Given the description of an element on the screen output the (x, y) to click on. 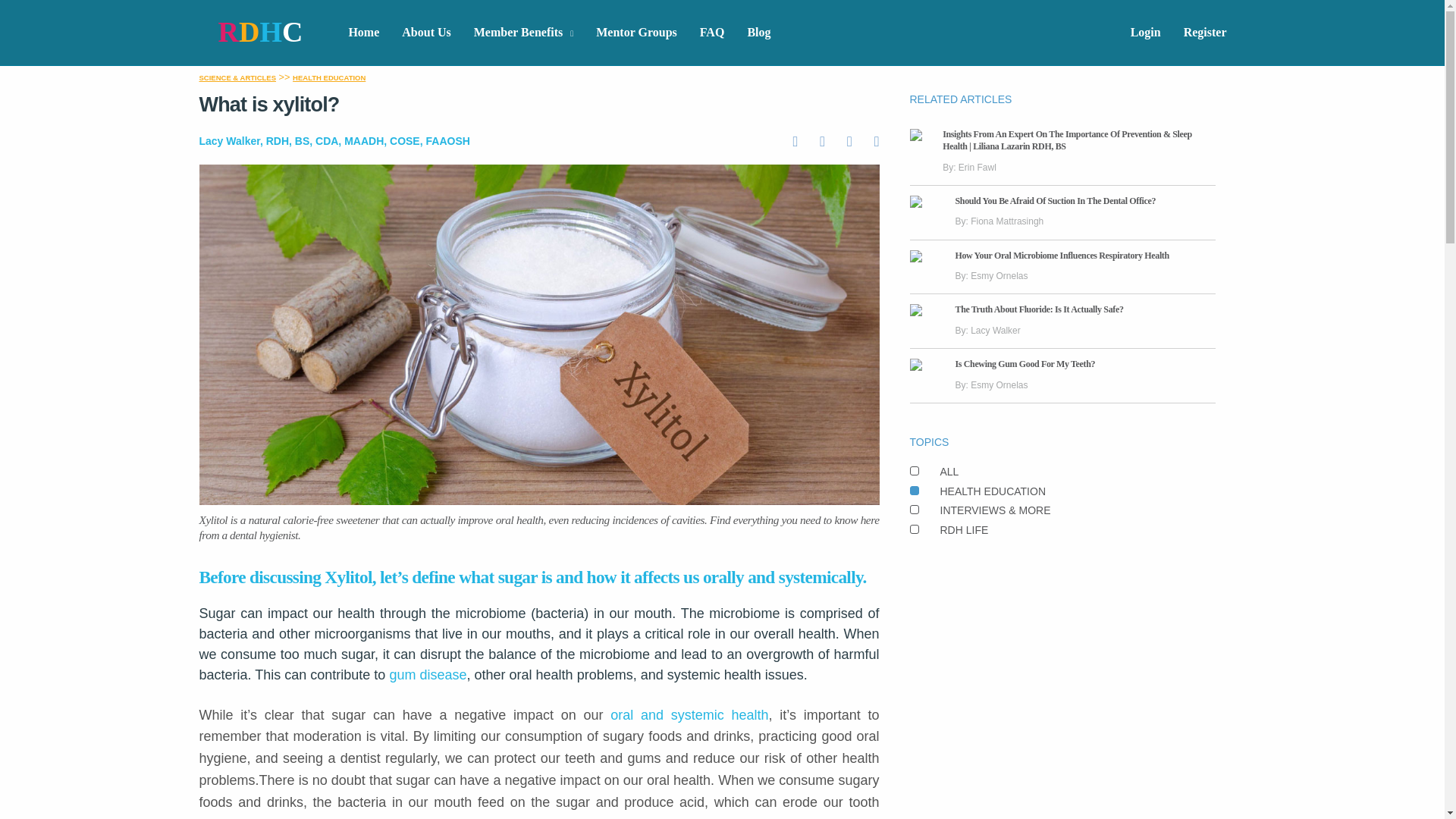
RDHC (260, 32)
Blog (758, 32)
Member Benefits (523, 32)
rdhconnect.com (260, 32)
oral and systemic health (689, 714)
gum disease (426, 674)
Home (362, 32)
Lacy Walker (228, 141)
About Us (425, 32)
HEALTH EDUCATION (328, 77)
Login (1145, 32)
Mentor Groups (636, 32)
Register (1205, 32)
FAQ (712, 32)
